Given the description of an element on the screen output the (x, y) to click on. 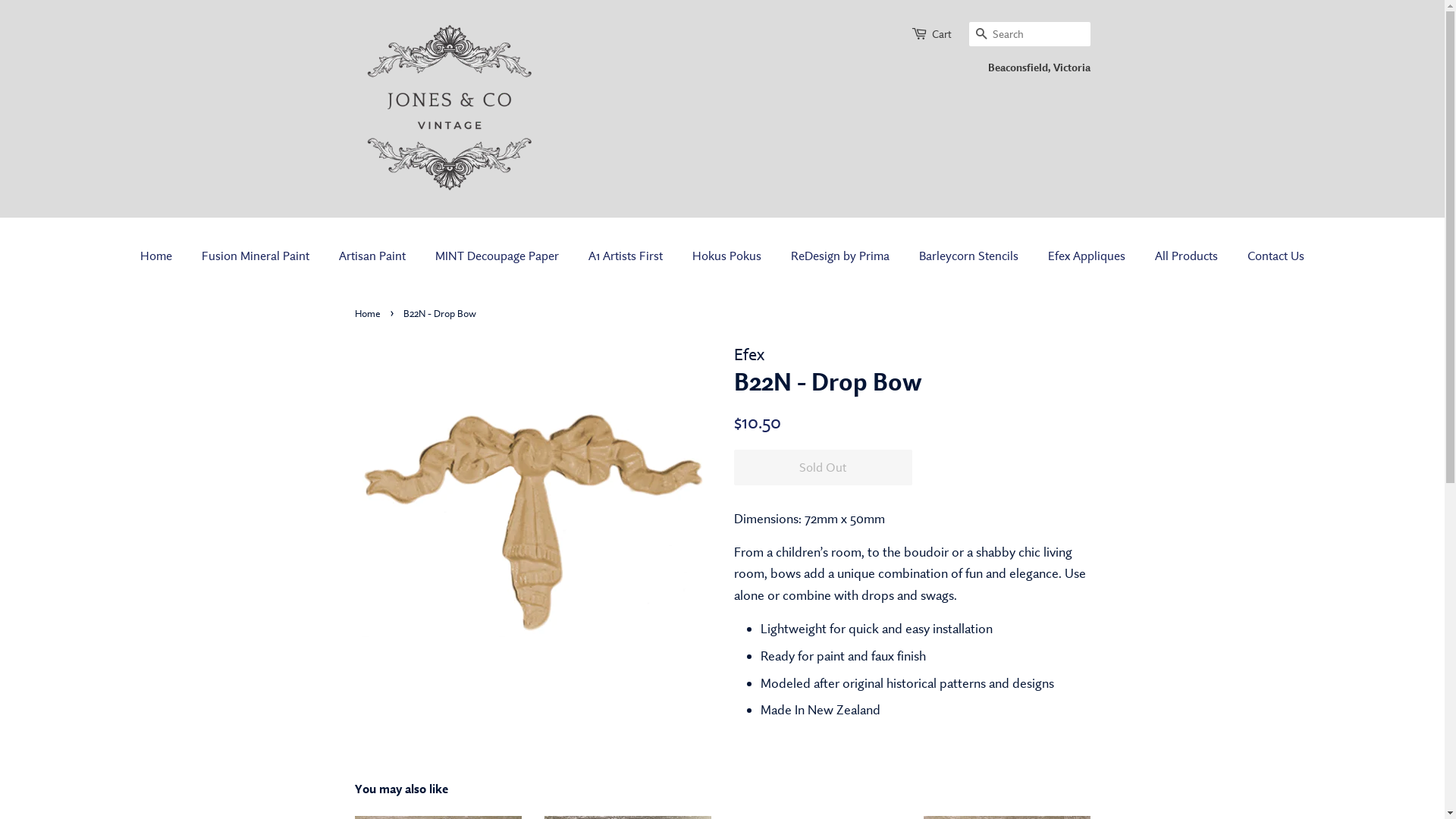
All Products Element type: text (1188, 255)
Cart Element type: text (940, 34)
A1 Artists First Element type: text (627, 255)
Artisan Paint Element type: text (373, 255)
Sold Out Element type: text (823, 467)
Hokus Pokus Element type: text (728, 255)
MINT Decoupage Paper Element type: text (498, 255)
Search Element type: text (981, 34)
Home Element type: text (369, 313)
Home Element type: text (163, 255)
Efex Appliques Element type: text (1088, 255)
Fusion Mineral Paint Element type: text (257, 255)
ReDesign by Prima Element type: text (841, 255)
Contact Us Element type: text (1270, 255)
Barleycorn Stencils Element type: text (970, 255)
